Given the description of an element on the screen output the (x, y) to click on. 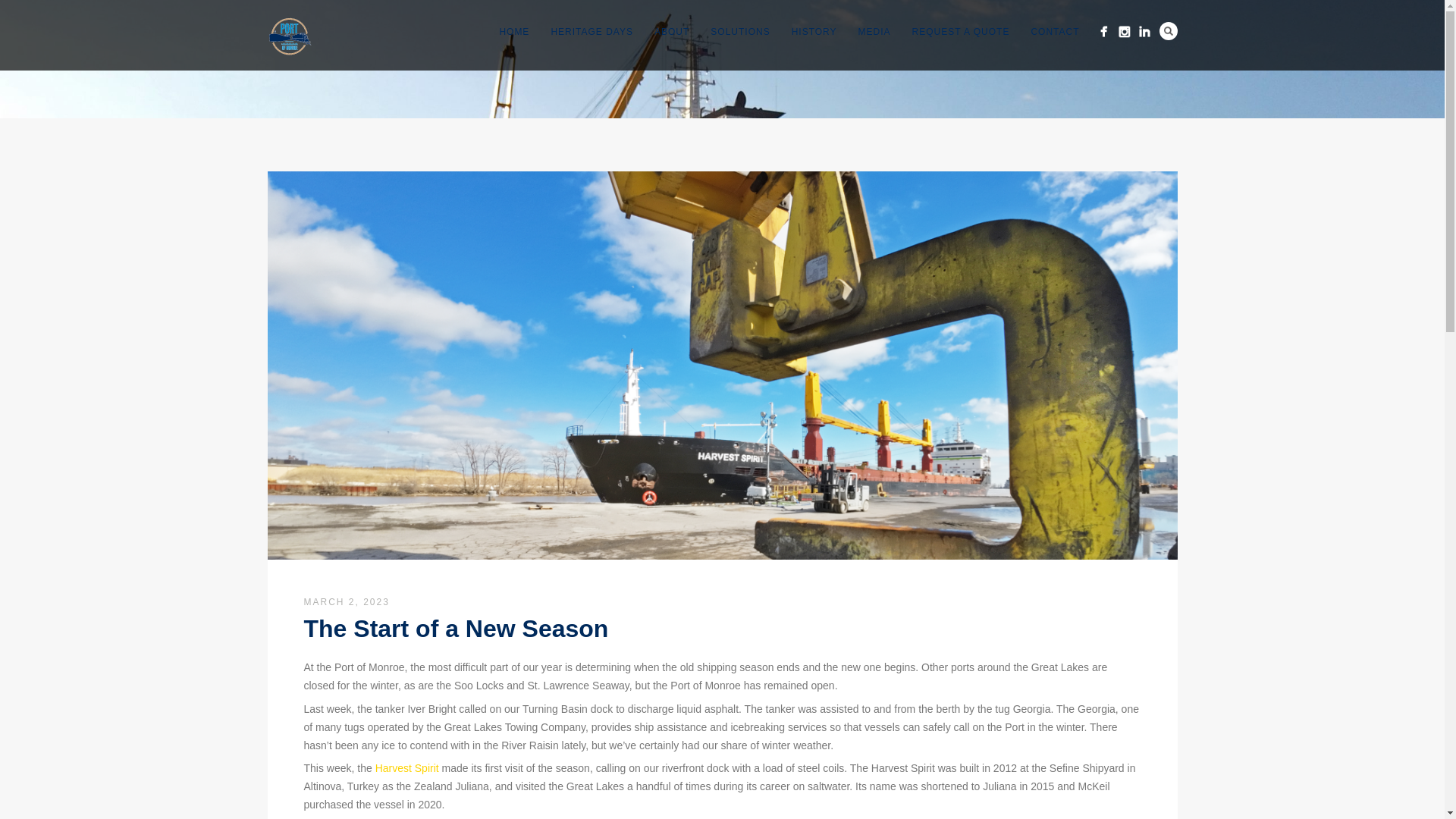
HISTORY (813, 31)
LinkedIn (1143, 31)
MEDIA (874, 31)
Search (1167, 31)
HOME (513, 31)
Instagram (1124, 31)
HERITAGE DAYS (591, 31)
ABOUT (671, 31)
REQUEST A QUOTE (960, 31)
CONTACT (1054, 31)
